Given the description of an element on the screen output the (x, y) to click on. 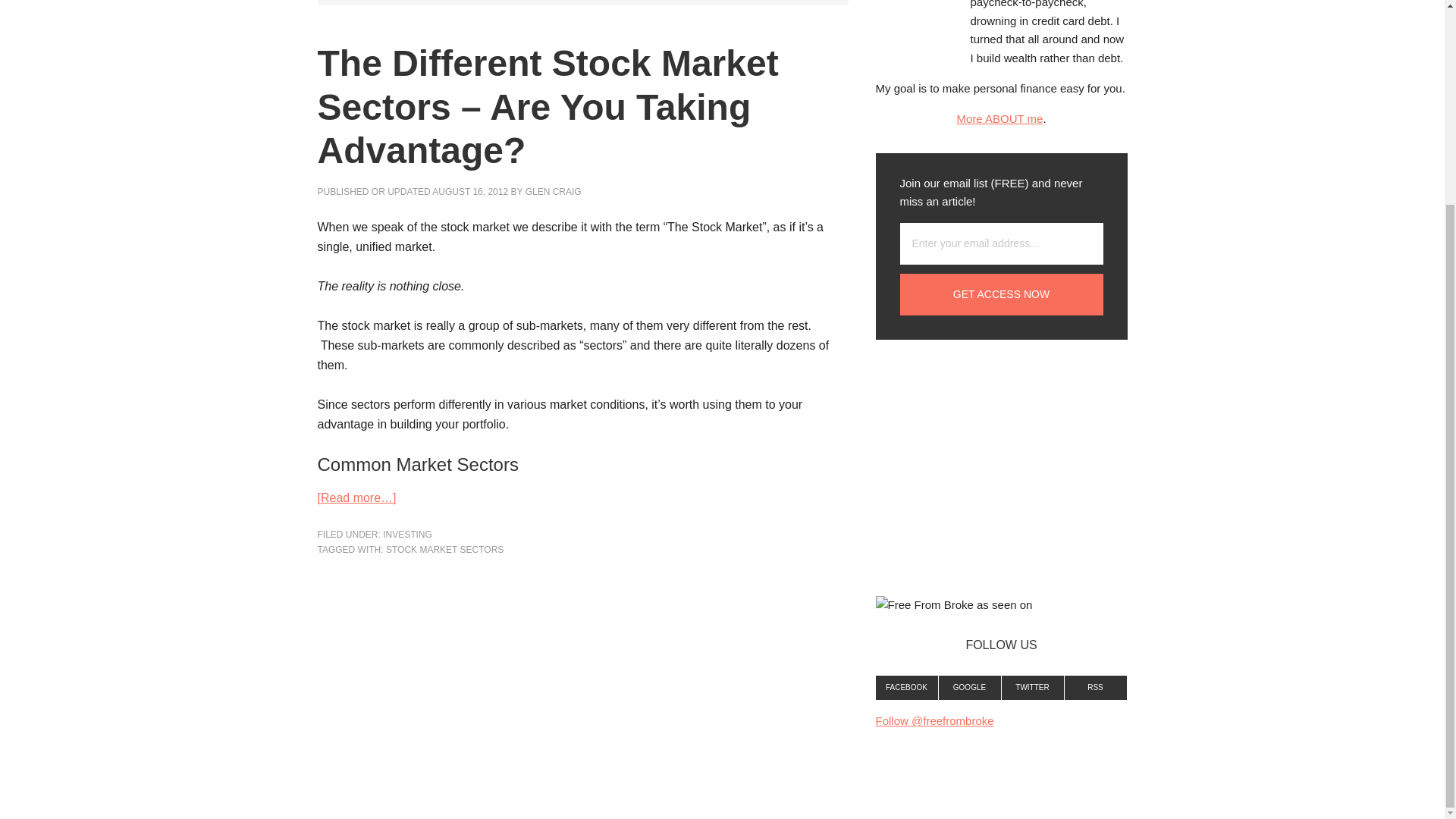
TWITTER (1032, 687)
RSS (1095, 687)
FACEBOOK (906, 687)
INVESTING (407, 534)
More ABOUT me (999, 118)
Get Access Now (1000, 294)
GOOGLE (970, 687)
STOCK MARKET SECTORS (444, 549)
Get Access Now (1000, 294)
GLEN CRAIG (552, 191)
